Given the description of an element on the screen output the (x, y) to click on. 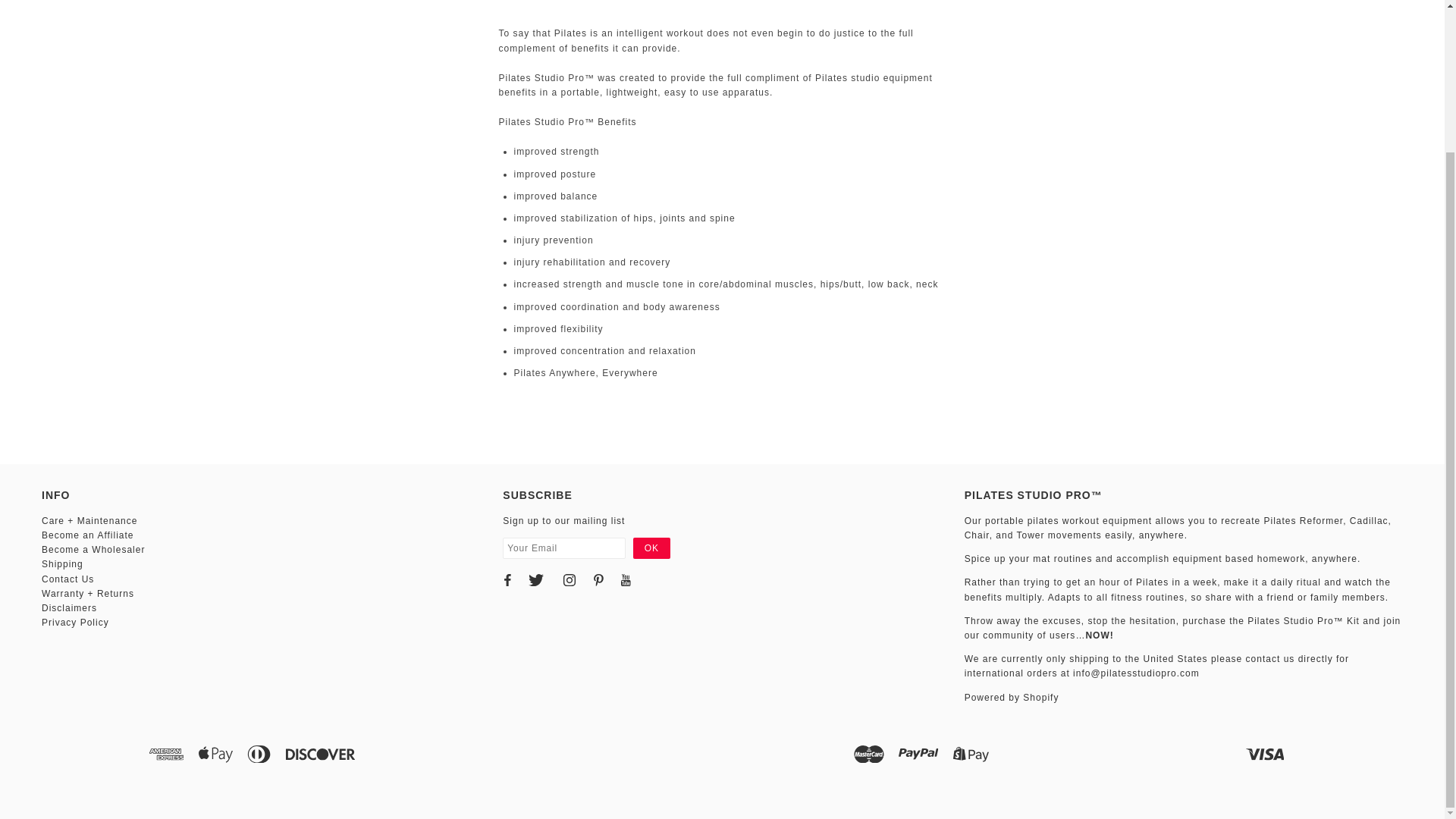
JOIN the PSPro Community (1181, 627)
Contact Us (68, 579)
OK (651, 547)
Disclaimers (69, 607)
Privacy Policy (75, 622)
Become a Wholesaler (93, 549)
Shipping (62, 563)
Become an Affiliate (87, 534)
